Given the description of an element on the screen output the (x, y) to click on. 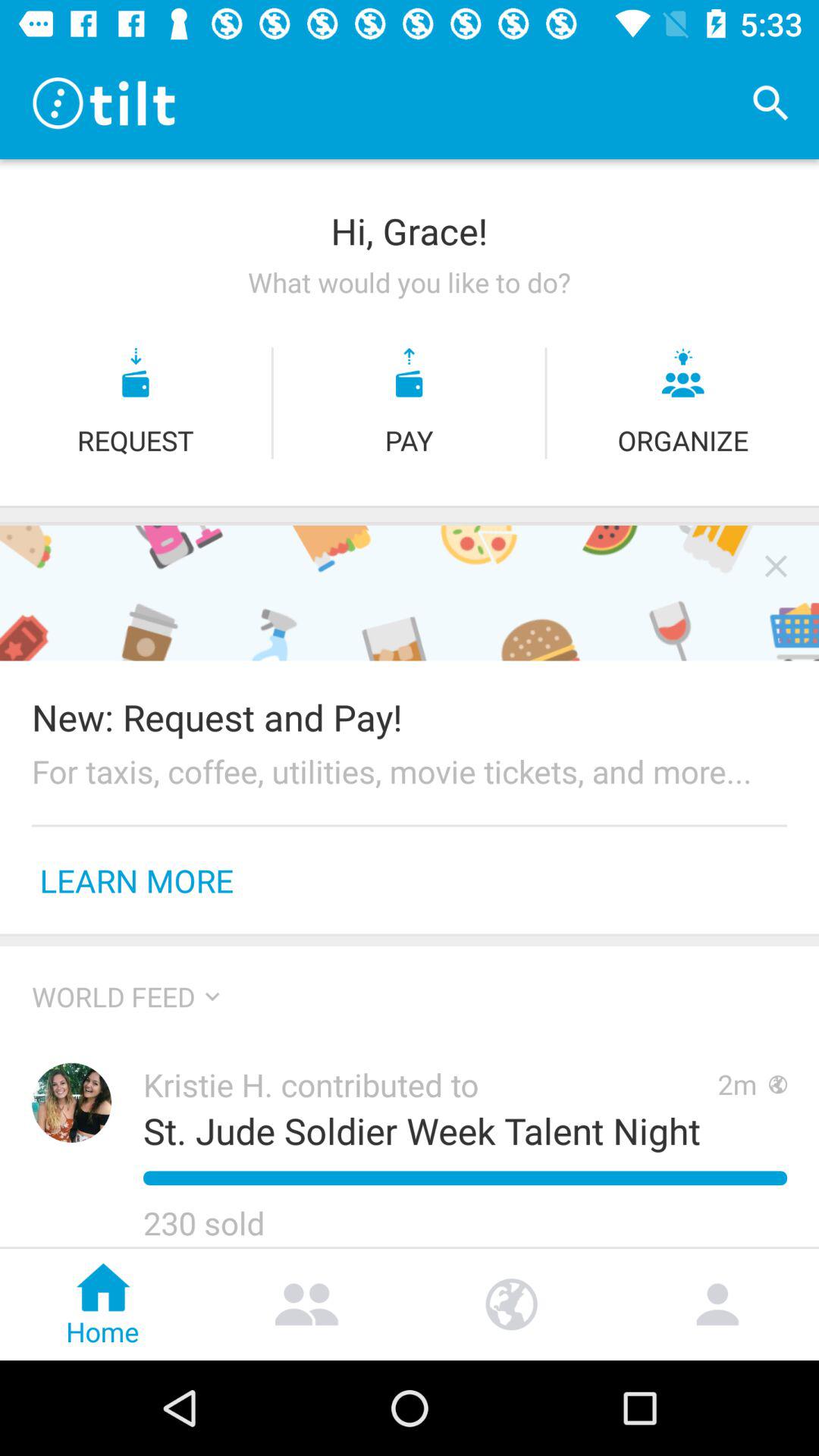
click item next to world feed (212, 996)
